Given the description of an element on the screen output the (x, y) to click on. 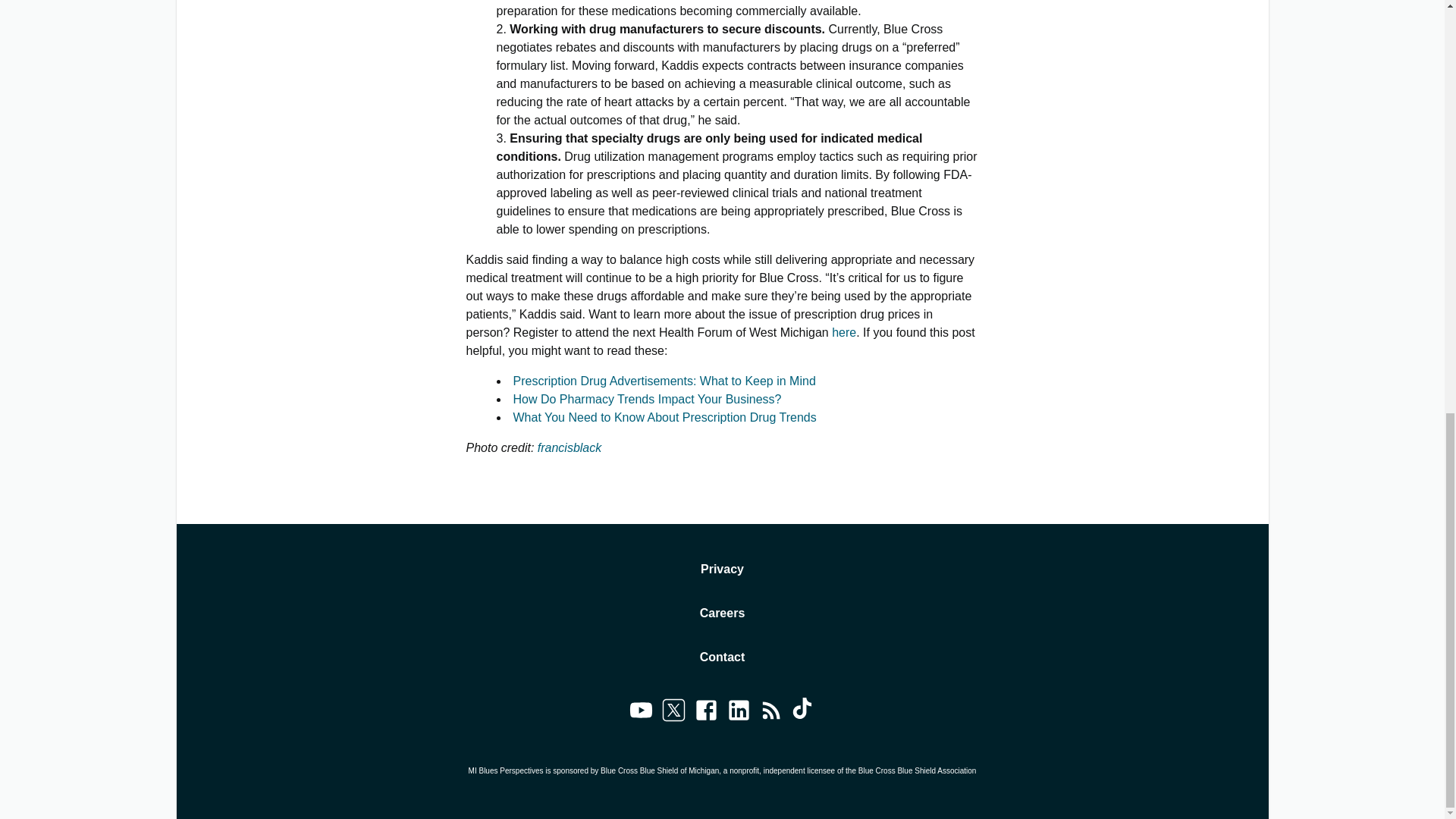
Careers (722, 613)
Prescription Drug Advertisements: What to Keep in Mind (663, 380)
here (843, 332)
How Do Pharmacy Trends Impact Your Business? (646, 399)
Contact (722, 657)
What You Need to Know About Prescription Drug Trends (663, 417)
francisblack (569, 447)
Privacy (722, 569)
